Given the description of an element on the screen output the (x, y) to click on. 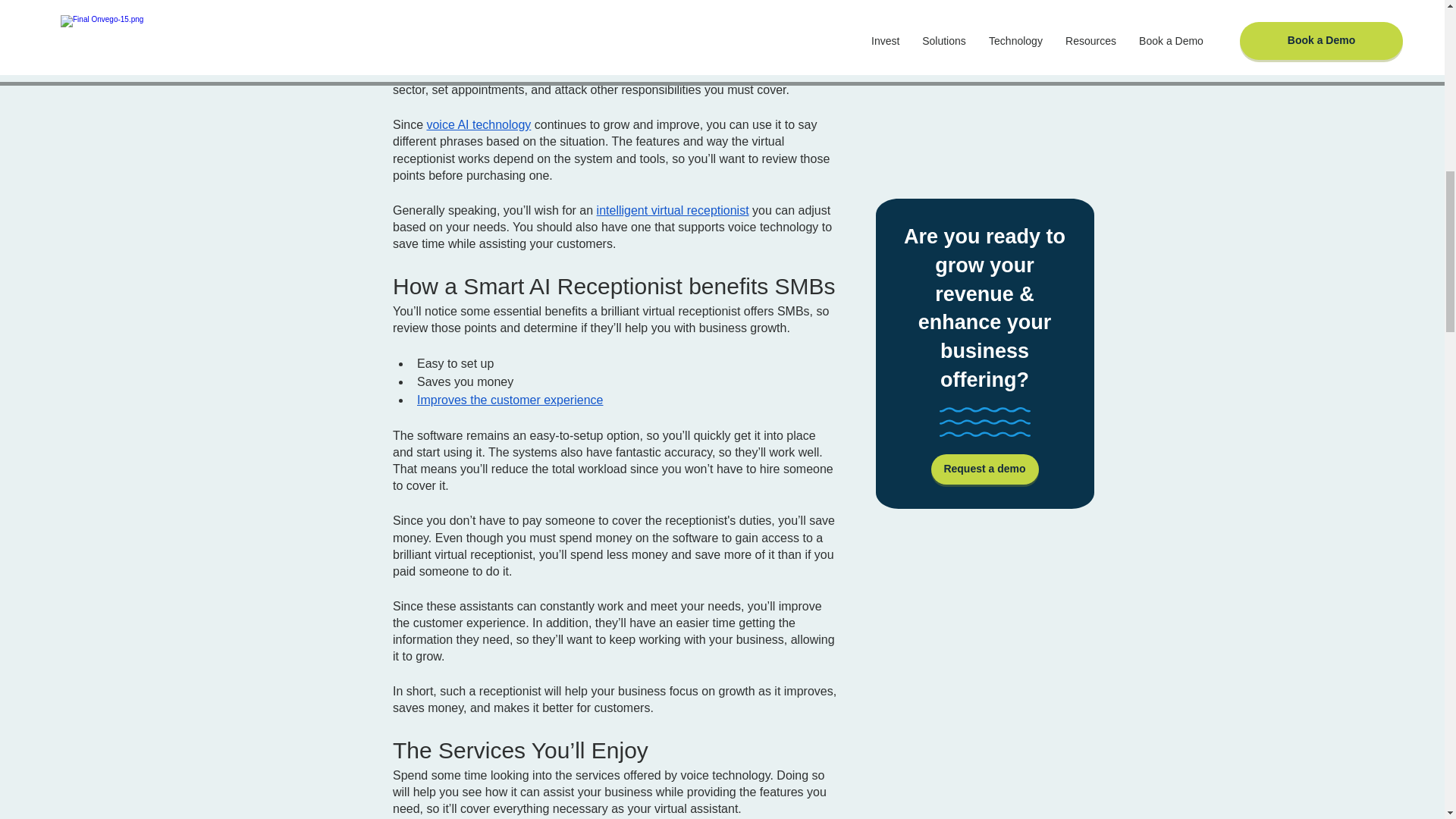
Improves the customer experience (509, 399)
intelligent virtual receptionist (671, 210)
voice AI technology (478, 124)
